Given the description of an element on the screen output the (x, y) to click on. 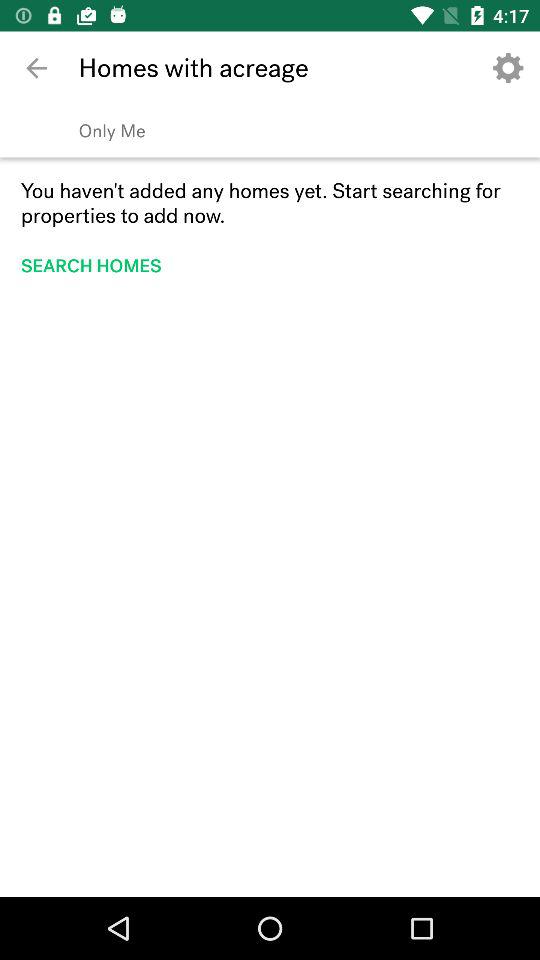
turn off app next to the homes with acreage app (36, 68)
